Given the description of an element on the screen output the (x, y) to click on. 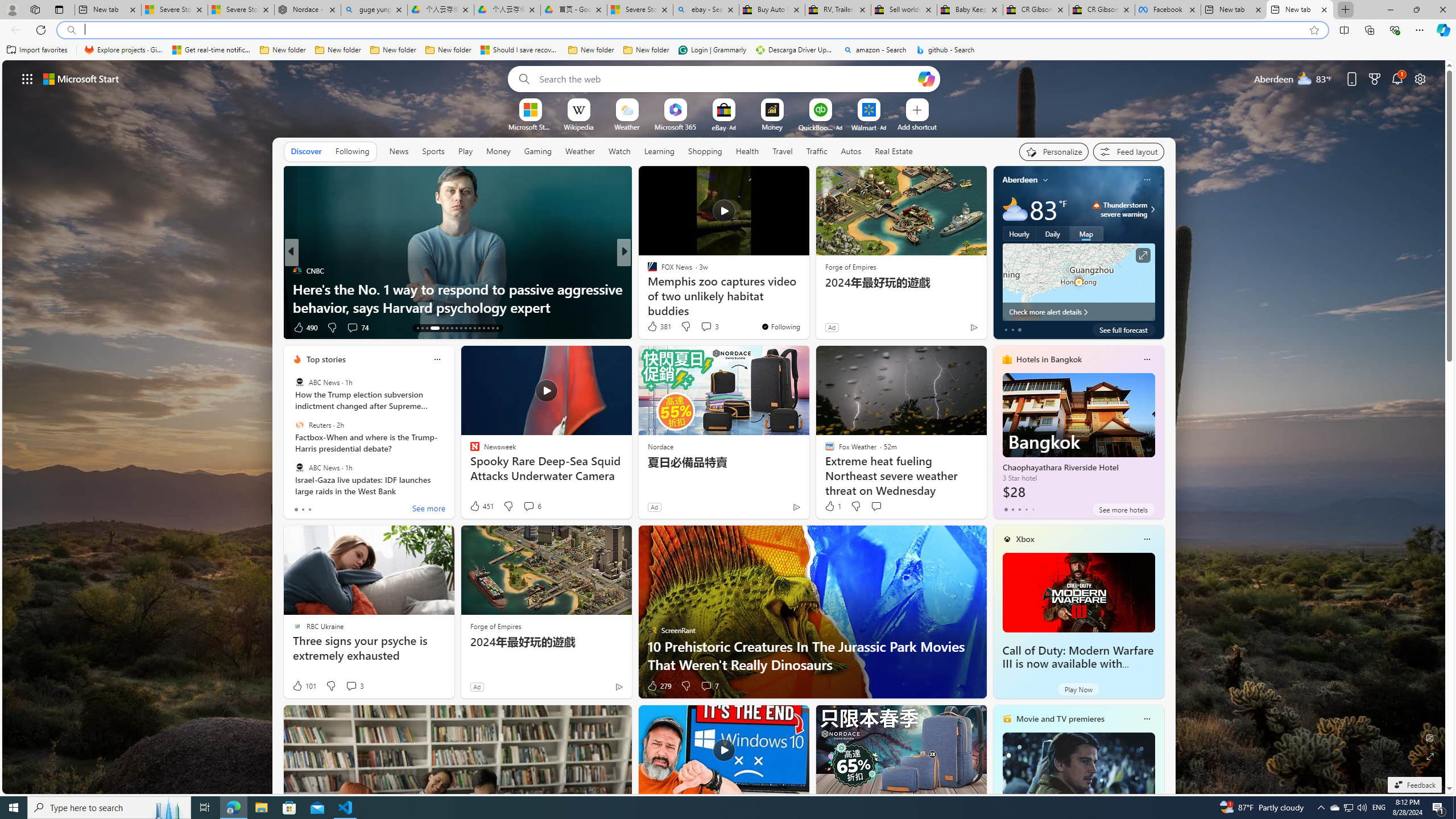
The Manual (647, 270)
3 Like (651, 327)
AutomationID: tab-16 (435, 328)
View comments 74 Comment (352, 327)
Larger map  (1077, 282)
View comments 23 Comment (6, 327)
4-year-old accidentally shatters Bronze Age jar at museum (807, 298)
View comments 10 Comment (698, 327)
Hotels in Bangkok (1048, 359)
Should I save recovered Word documents? - Microsoft Support (519, 49)
honeymallow (647, 288)
View comments 1 Comment (702, 327)
